Given the description of an element on the screen output the (x, y) to click on. 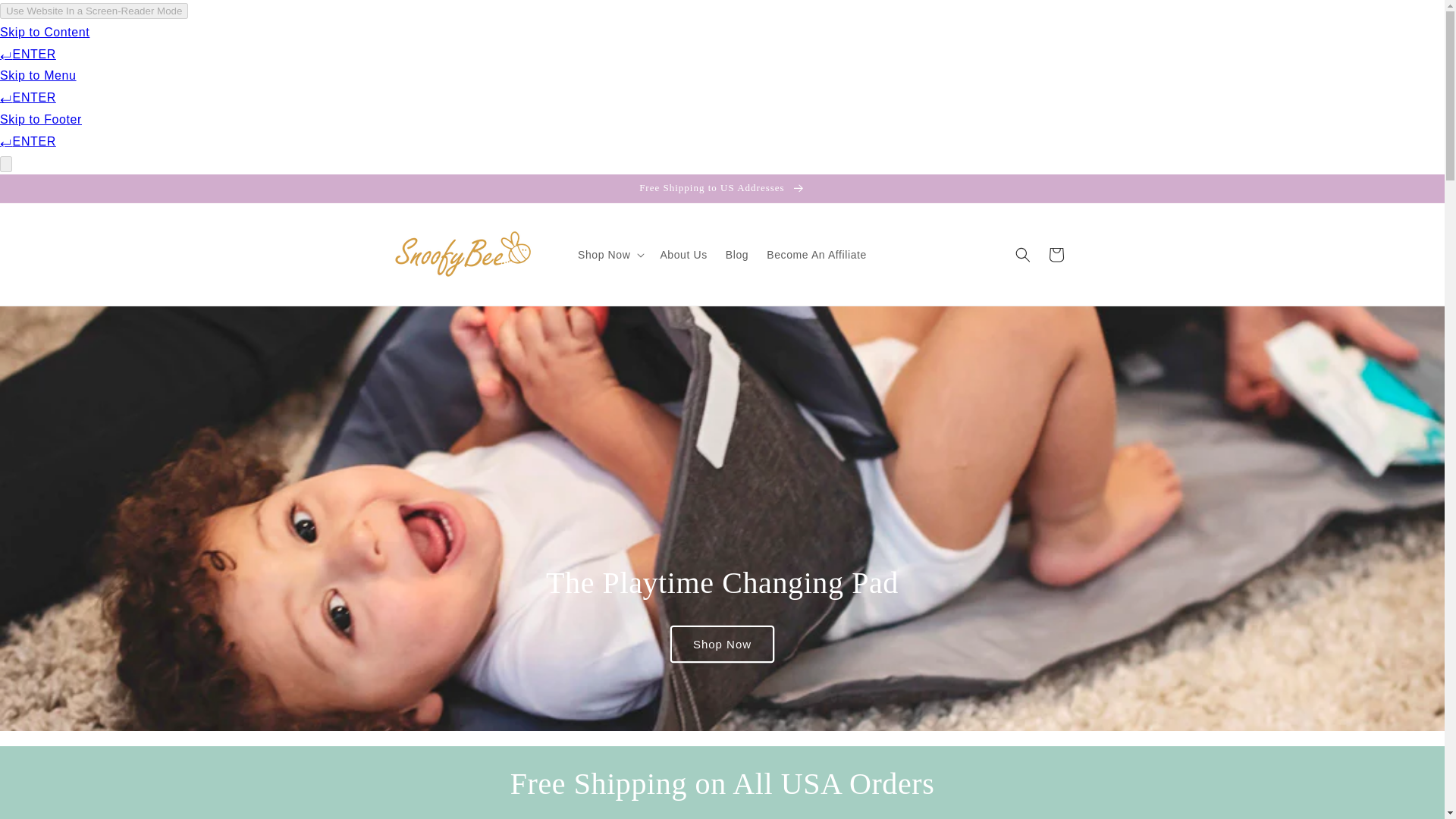
Shop Now (721, 643)
Cart (1055, 254)
About Us (683, 255)
Skip to content (46, 18)
Blog (736, 255)
Become An Affiliate (816, 255)
